Given the description of an element on the screen output the (x, y) to click on. 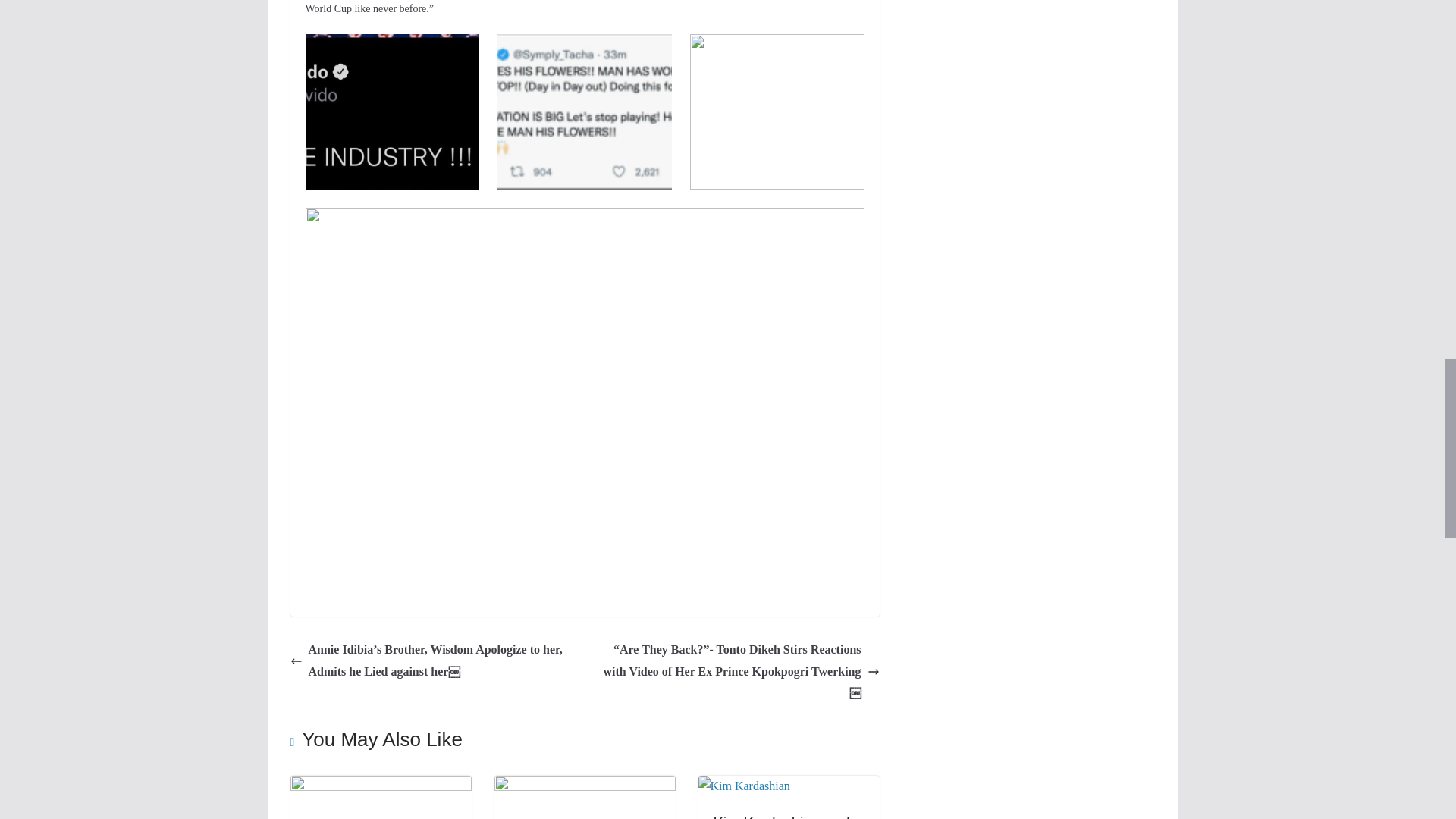
Kim Kardashian and Pete Davidson Are Officially Dating (780, 816)
Kim Kardashian and Pete Davidson Are Officially Dating (743, 785)
Kim Kardashian and Pete Davidson Are Officially Dating (780, 816)
